Given the description of an element on the screen output the (x, y) to click on. 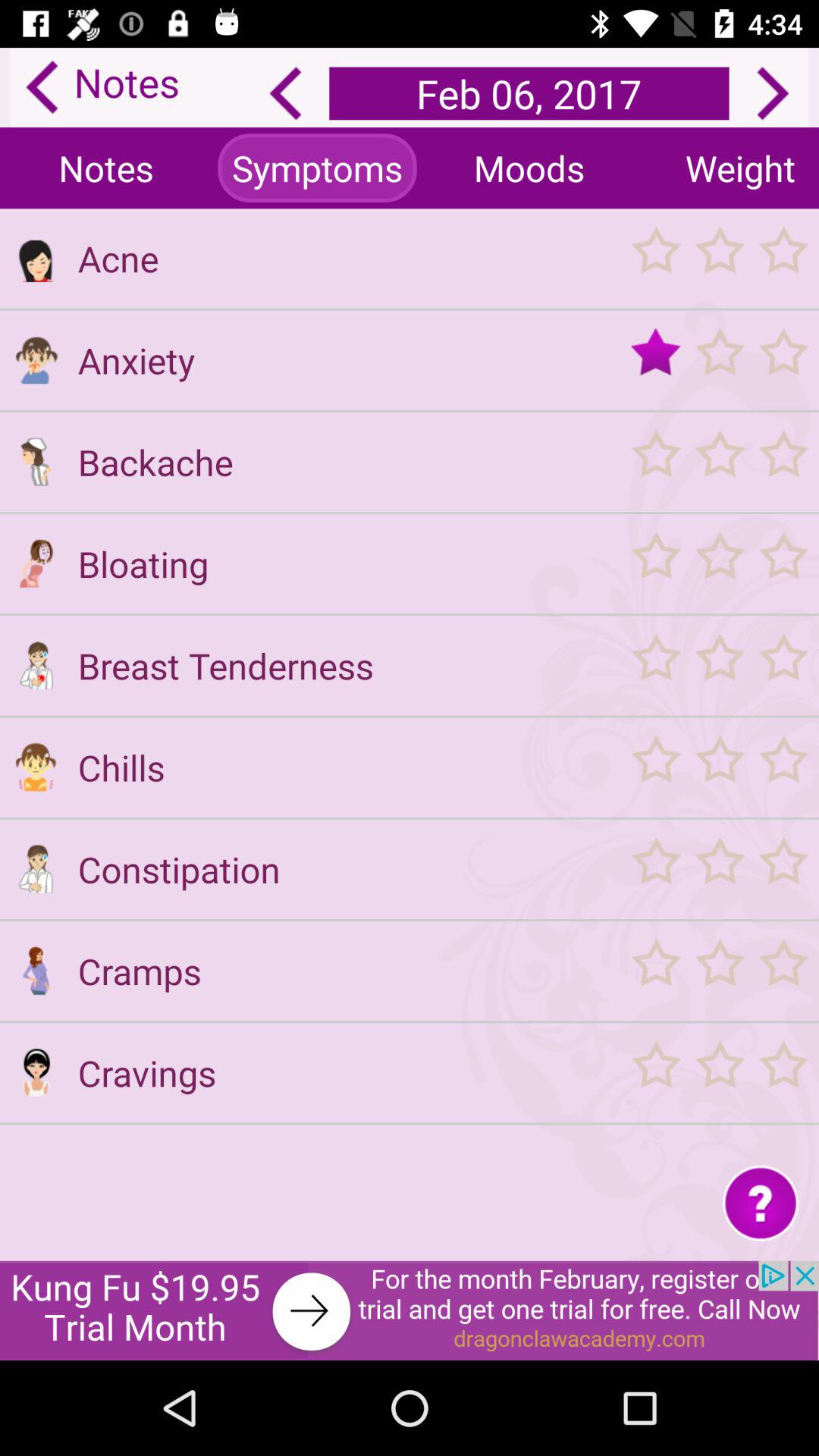
vote (719, 461)
